Given the description of an element on the screen output the (x, y) to click on. 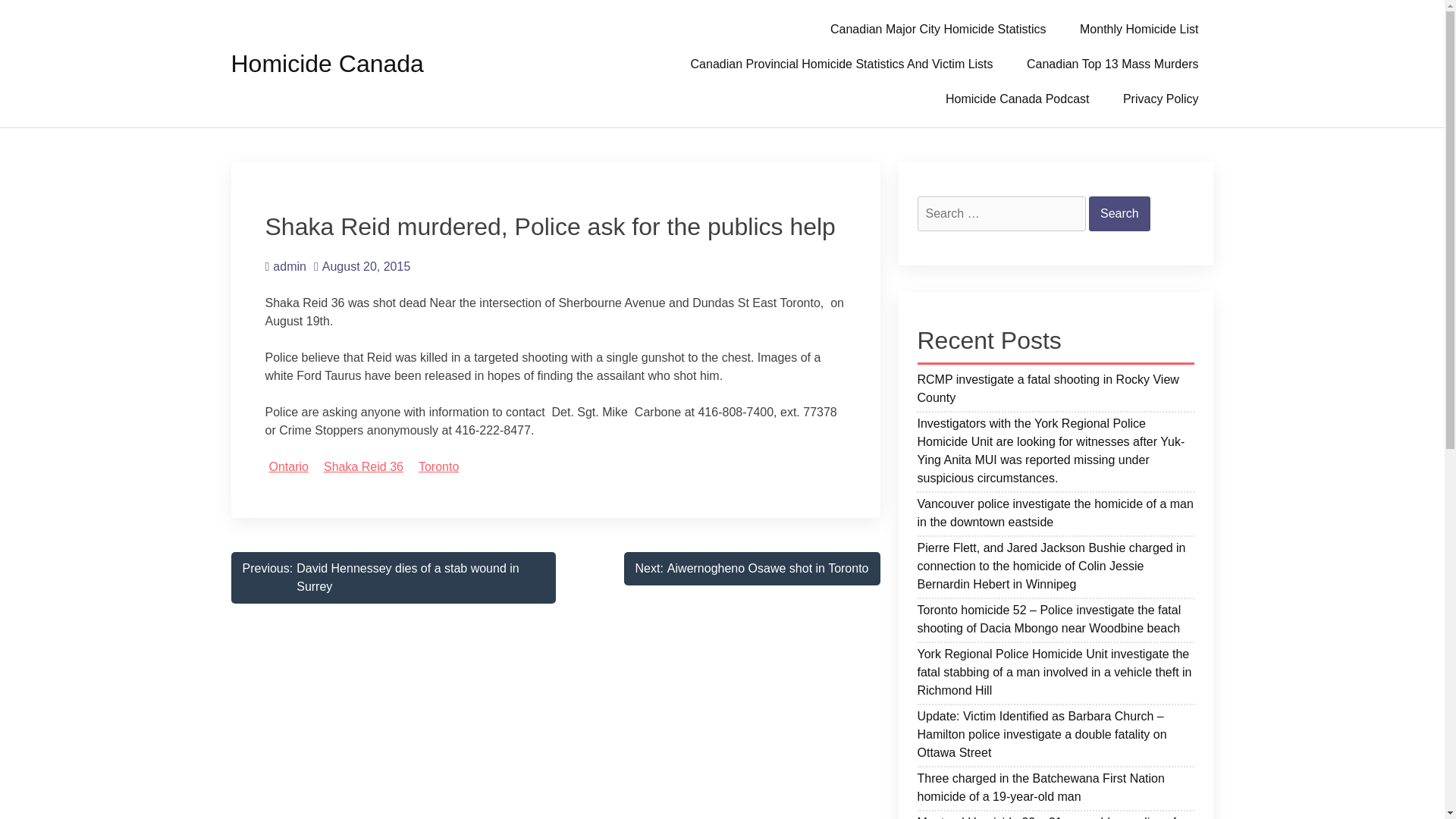
Ontario (287, 466)
Privacy Policy (1161, 98)
Homicide Canada (751, 568)
Homicide Canada Podcast (392, 577)
Canadian Top 13 Mass Murders (326, 62)
